Given the description of an element on the screen output the (x, y) to click on. 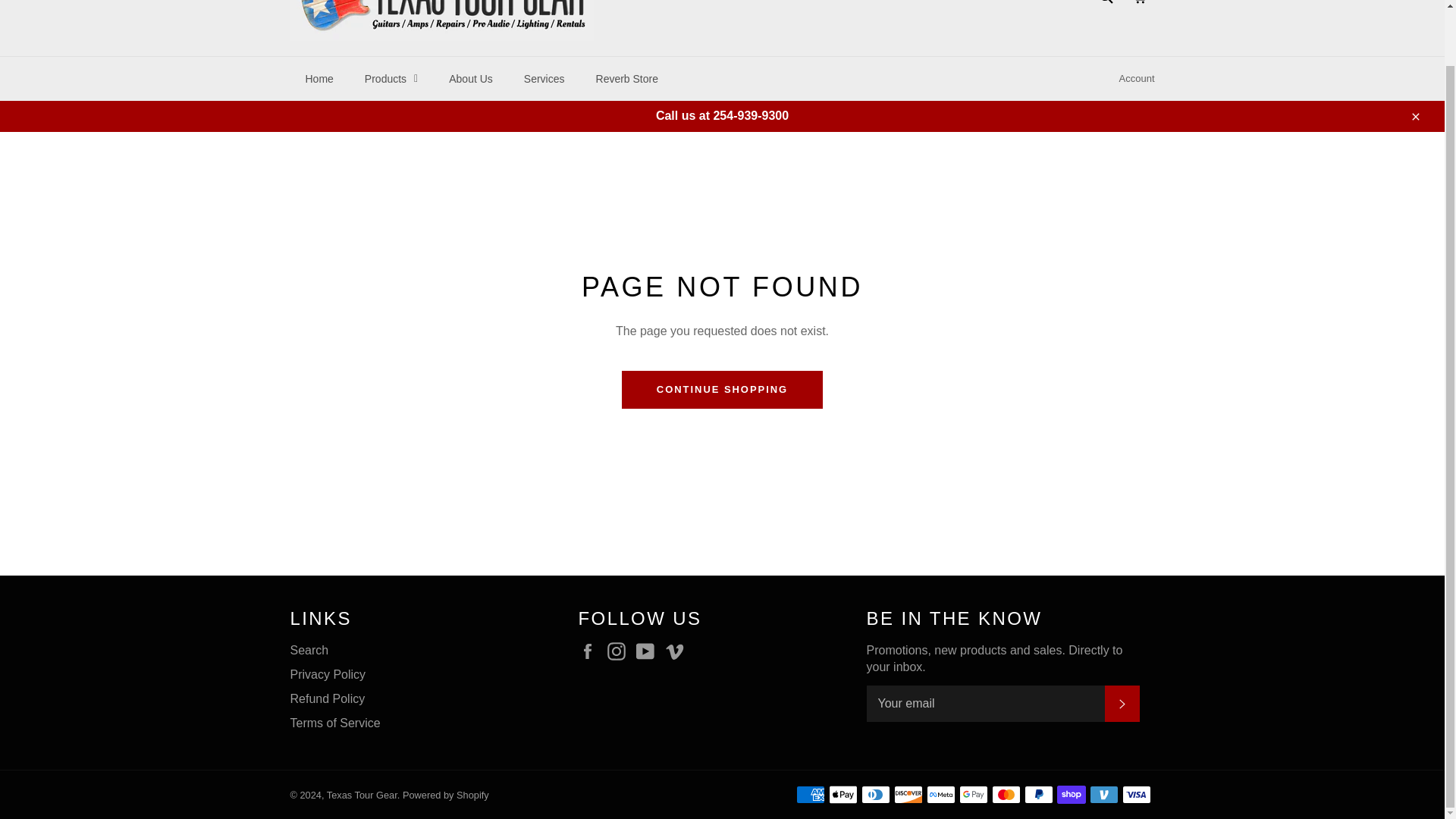
Texas Tour Gear on Instagram (620, 651)
Texas Tour Gear on Facebook (591, 651)
Texas Tour Gear on Vimeo (678, 651)
Texas Tour Gear on YouTube (649, 651)
